Given the description of an element on the screen output the (x, y) to click on. 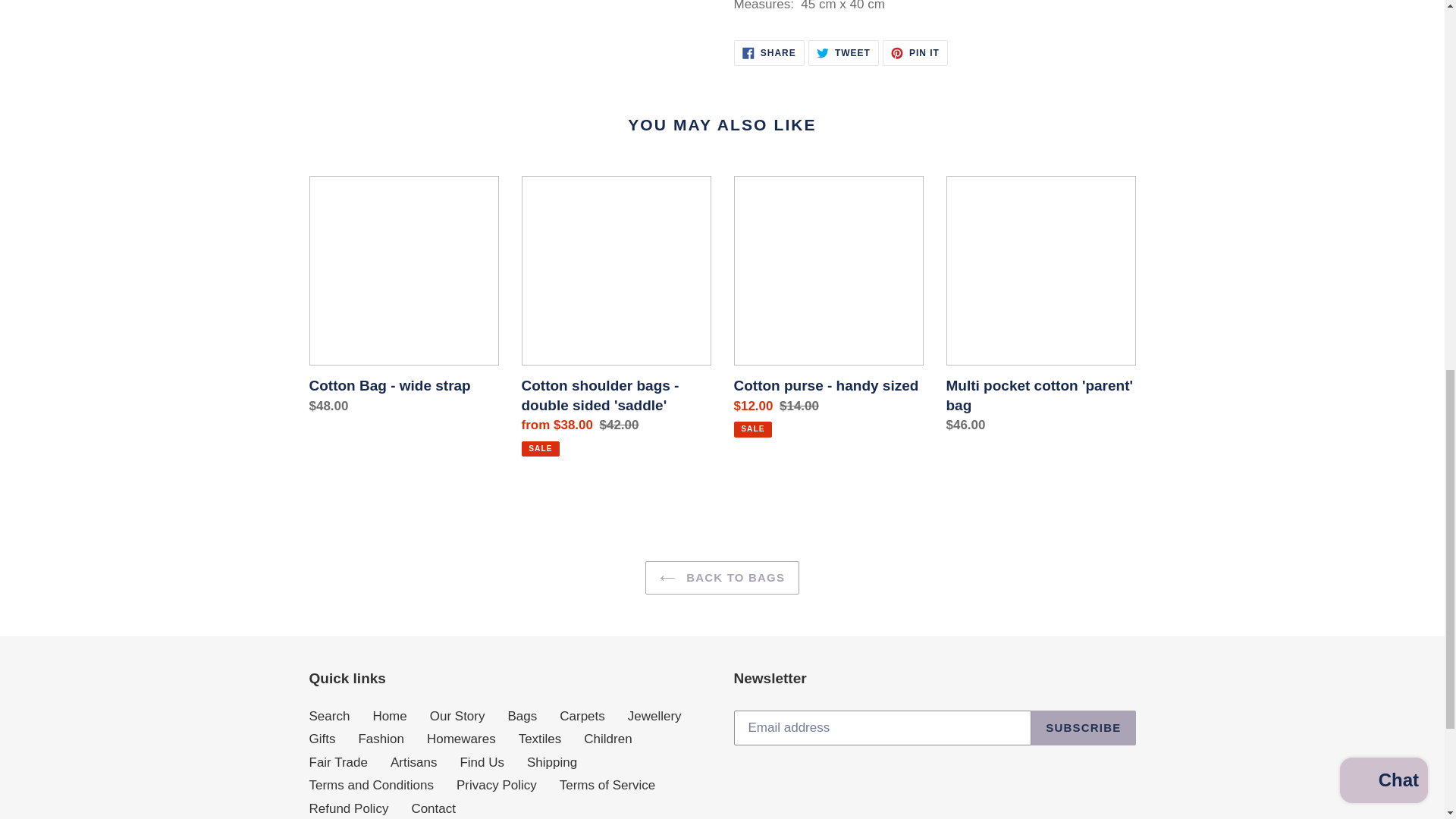
Search (329, 716)
BACK TO BAGS (843, 53)
